Given the description of an element on the screen output the (x, y) to click on. 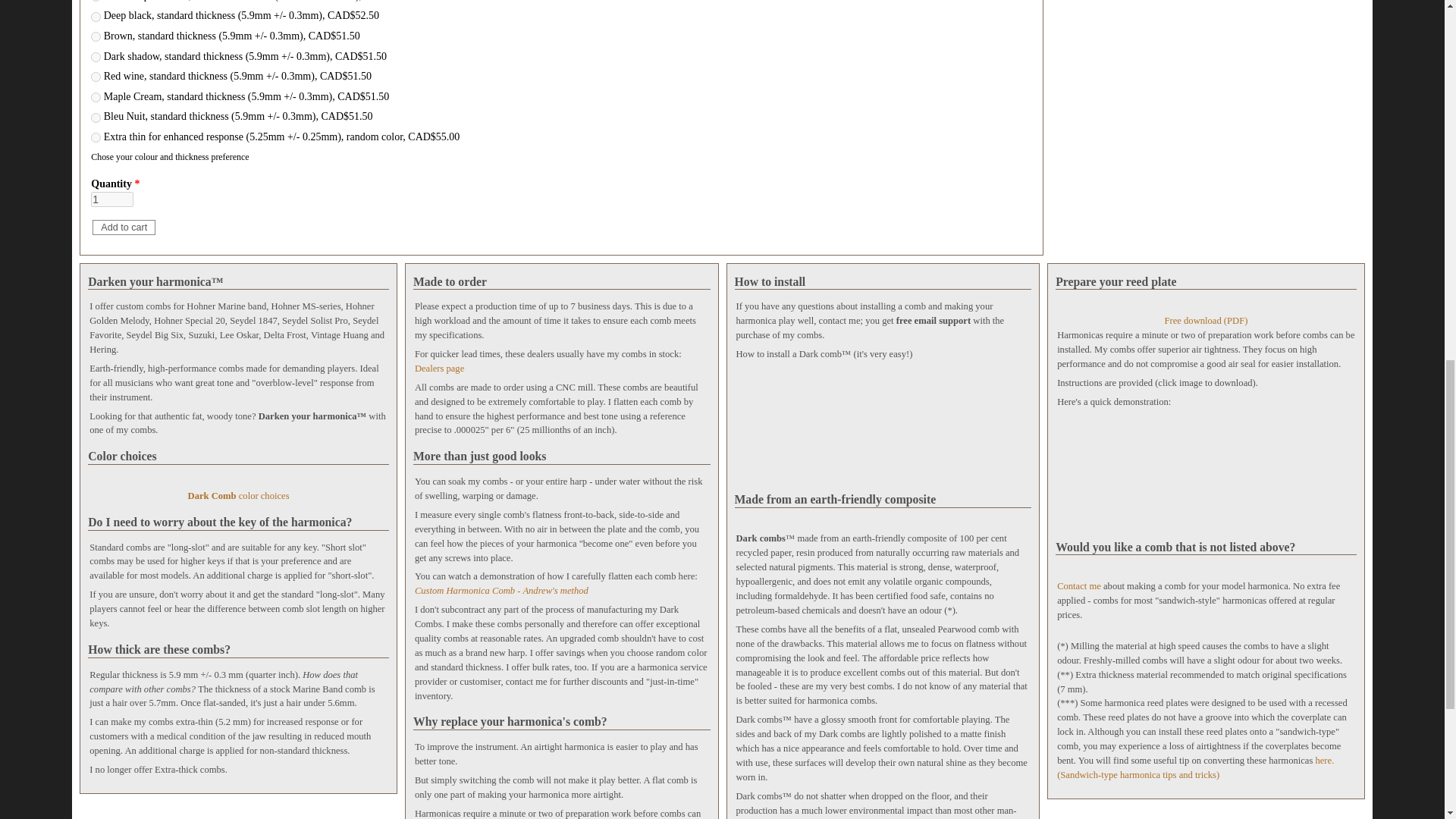
Dealers page (439, 368)
This field is required. (136, 183)
35 (95, 76)
32 (95, 57)
33 (95, 36)
Dark Comb color choices (237, 489)
93 (95, 97)
31 (95, 17)
1 (111, 199)
Add to cart (124, 227)
132 (95, 117)
Add to cart (124, 227)
Custom Harmonica Comb - Andrew's method (501, 590)
Contact me (1078, 585)
